Given the description of an element on the screen output the (x, y) to click on. 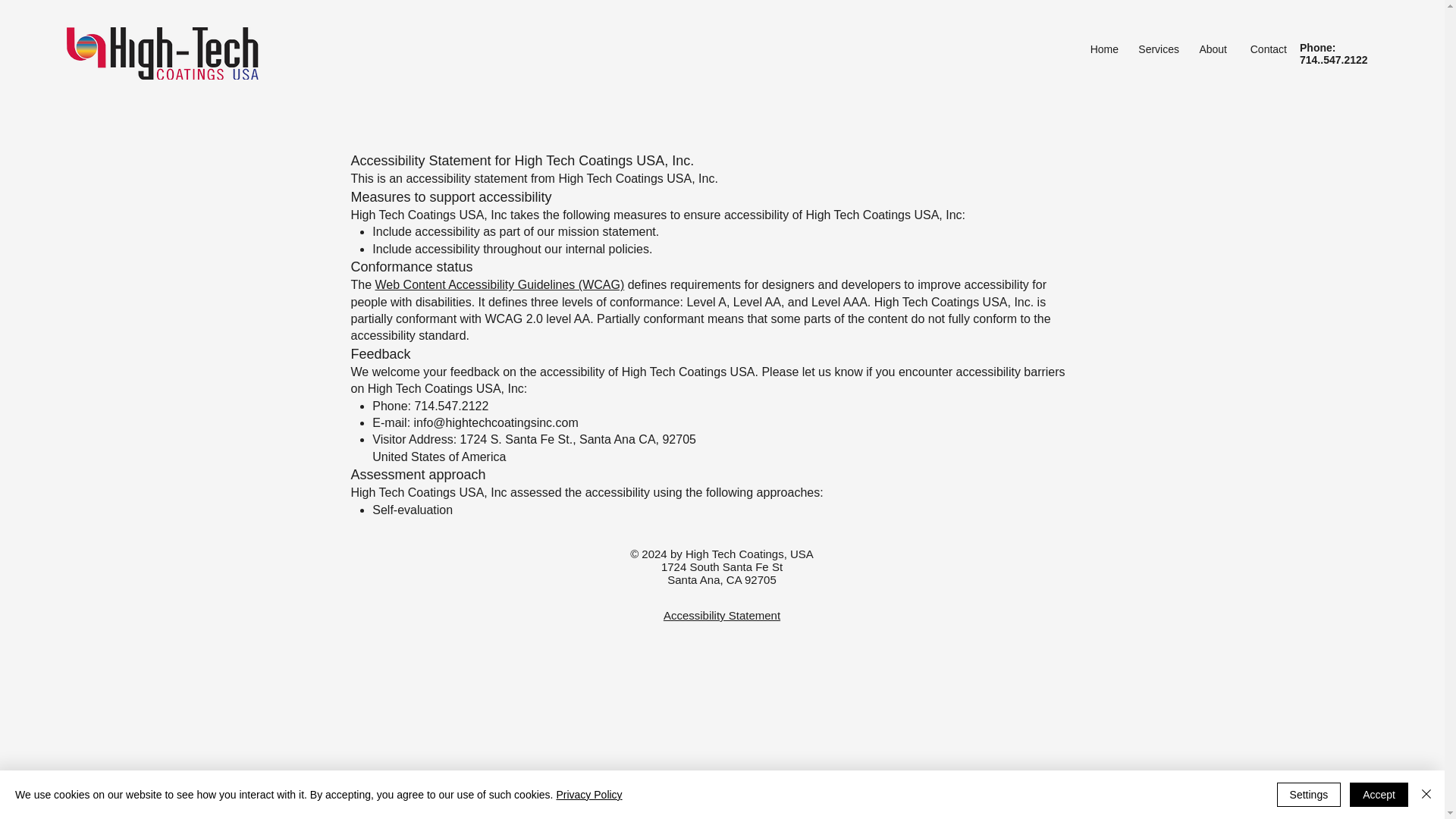
Contact (1264, 49)
About (1210, 49)
Privacy Policy (588, 794)
Accessibility Statement (721, 615)
Home (1101, 49)
Services (1155, 49)
Accept (1378, 794)
Settings (1308, 794)
